Given the description of an element on the screen output the (x, y) to click on. 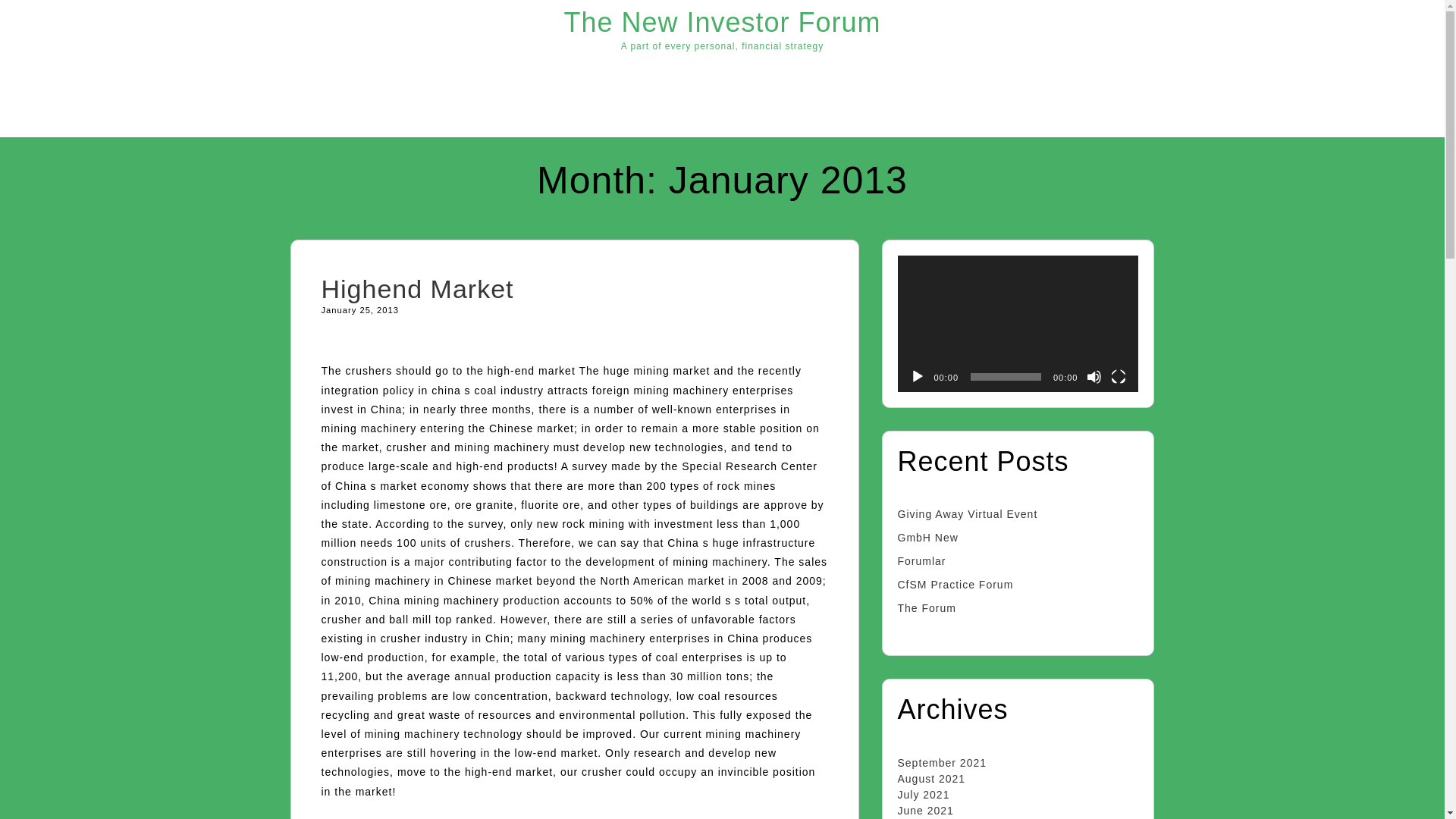
Mute (1094, 376)
The Forum (927, 607)
Fullscreen (1117, 376)
The New Investor Forum (721, 21)
Giving Away Virtual Event (968, 513)
September 2021 (942, 762)
Highend Market (417, 288)
Forumlar (922, 561)
August 2021 (932, 778)
GmbH New (928, 537)
Play (917, 376)
July 2021 (924, 794)
June 2021 (925, 810)
CfSM Practice Forum (955, 584)
